Given the description of an element on the screen output the (x, y) to click on. 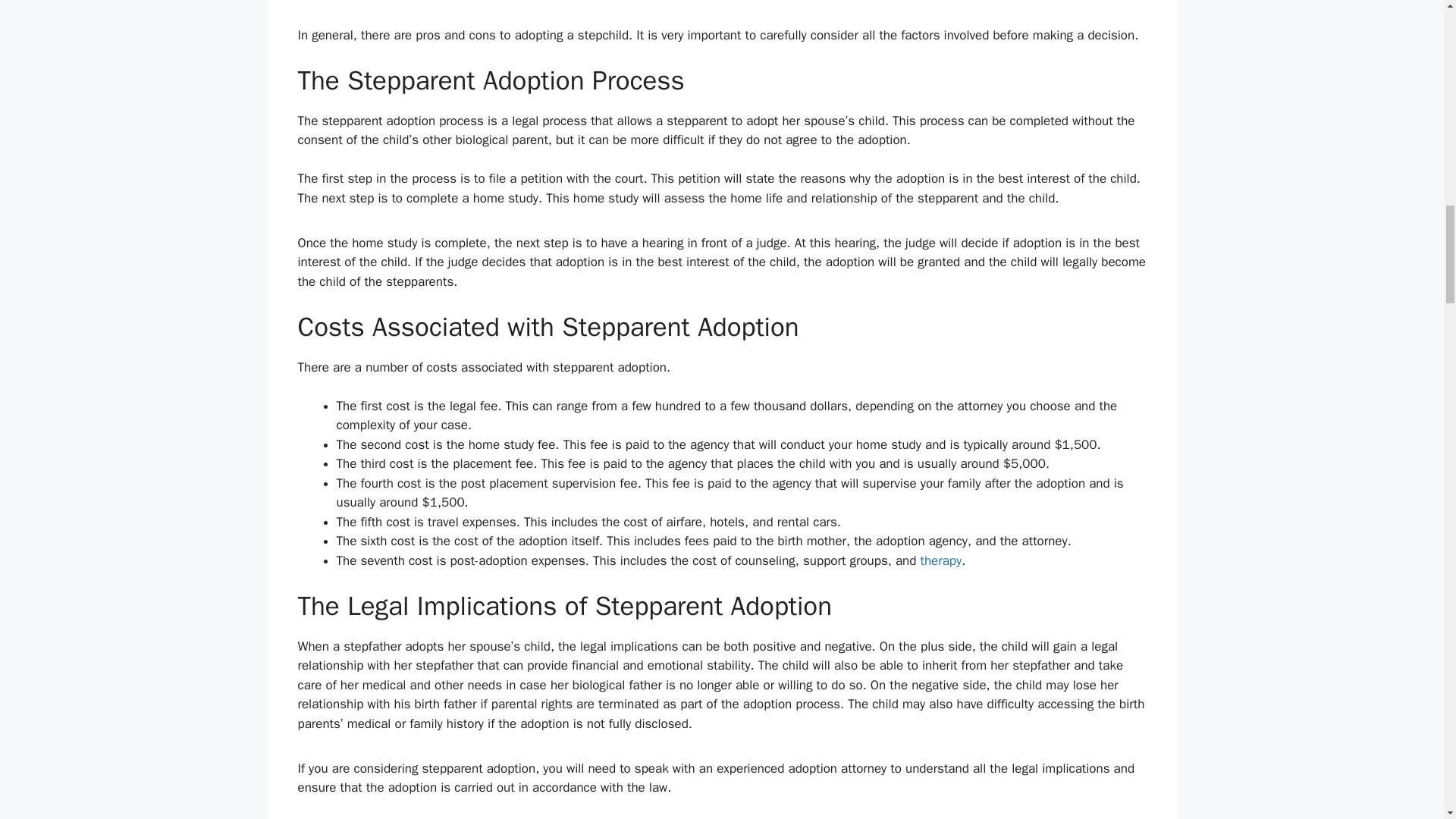
therapy (941, 560)
